Given the description of an element on the screen output the (x, y) to click on. 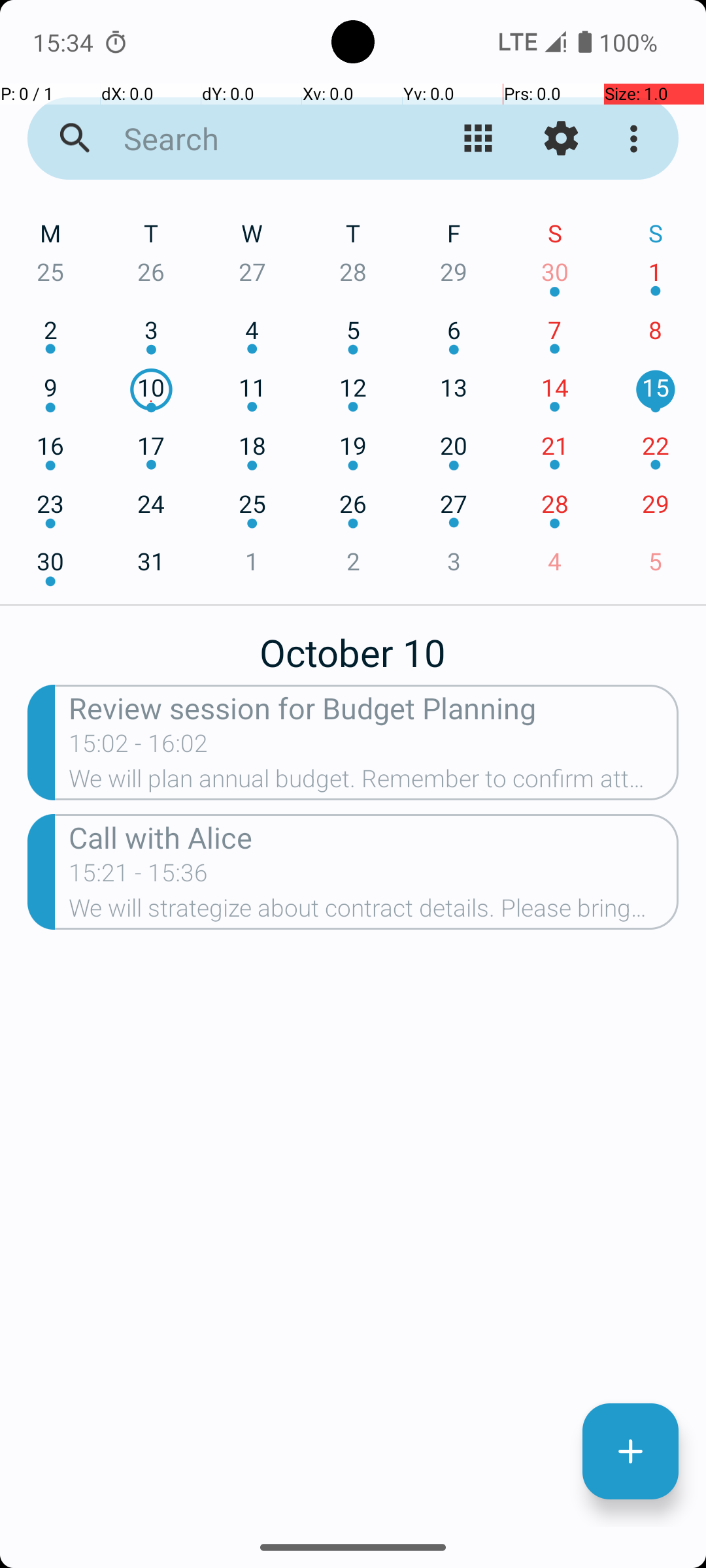
October 10 Element type: android.widget.TextView (352, 644)
15:02 - 16:02 Element type: android.widget.TextView (212, 747)
We will plan annual budget. Remember to confirm attendance. Element type: android.widget.TextView (373, 782)
15:21 - 15:36 Element type: android.widget.TextView (137, 876)
We will strategize about contract details. Please bring relevant documents. Element type: android.widget.TextView (373, 911)
